Given the description of an element on the screen output the (x, y) to click on. 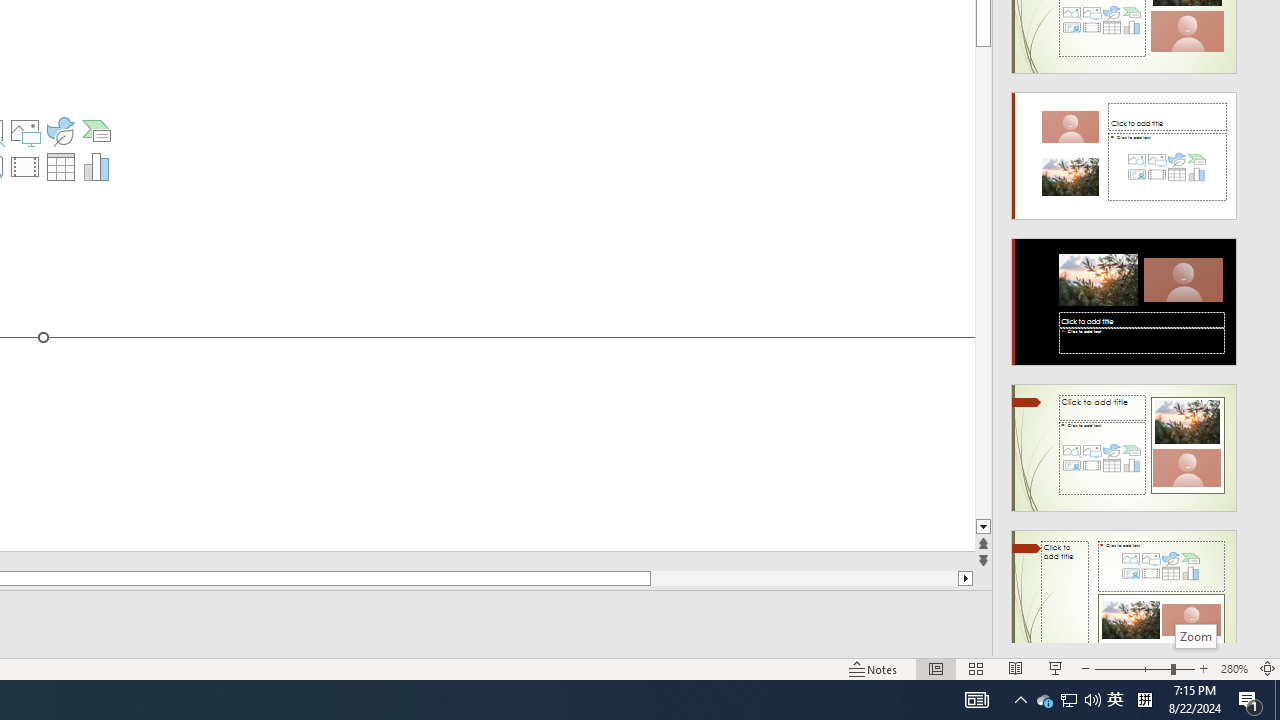
Zoom (1196, 636)
Normal (936, 668)
Insert a SmartArt Graphic (96, 130)
Zoom (1144, 668)
Design Idea (1124, 587)
Class: NetUIImage (1124, 593)
Zoom 280% (1234, 668)
Notes  (874, 668)
Page down (983, 283)
Line down (983, 527)
Pictures (24, 130)
Zoom In (1204, 668)
Insert an Icon (60, 130)
Zoom Out (1132, 668)
